Given the description of an element on the screen output the (x, y) to click on. 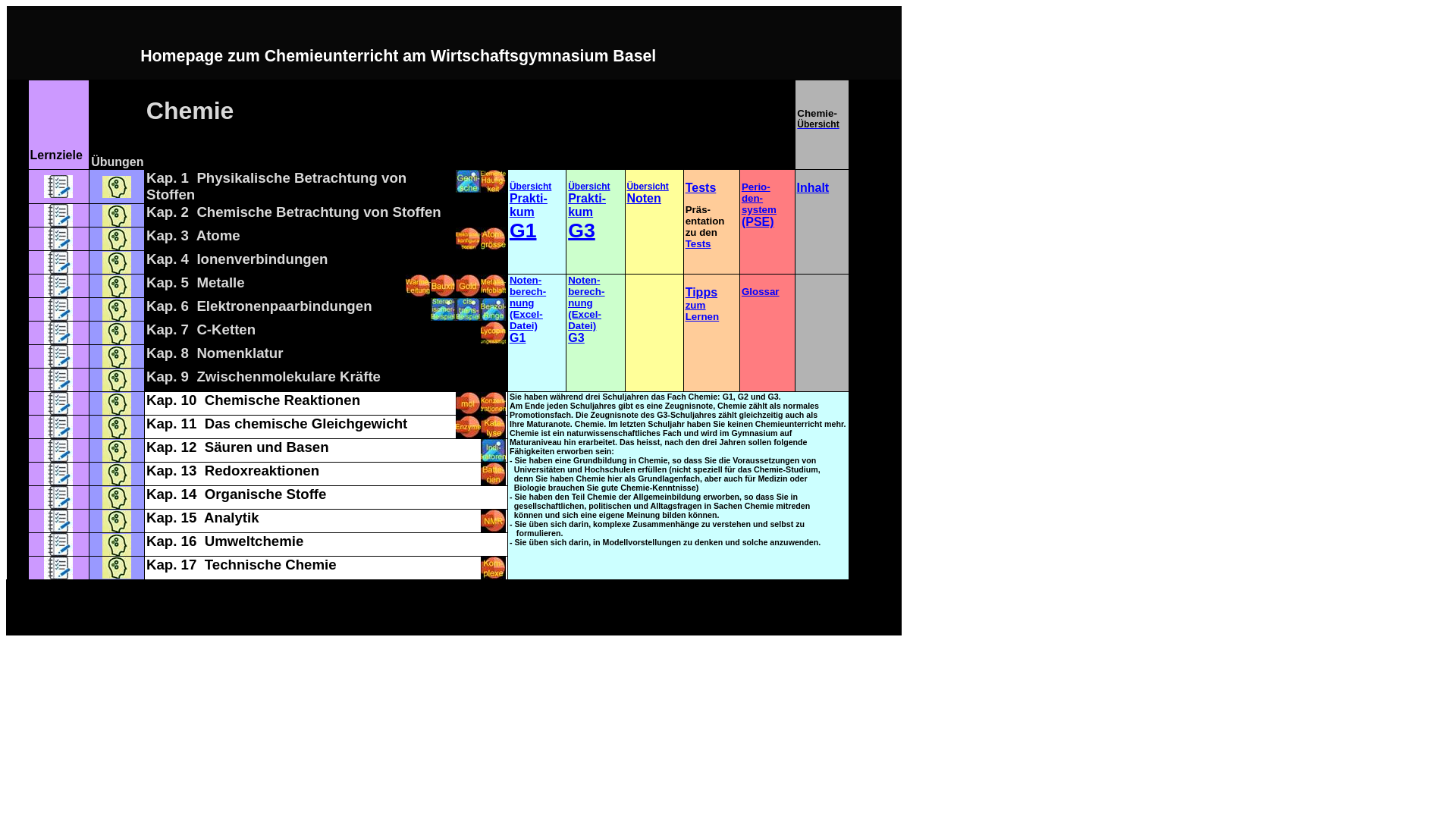
den- Element type: text (751, 197)
Inhalt Element type: text (812, 188)
kum Element type: text (521, 211)
(Excel- Element type: text (525, 314)
G3 Element type: text (575, 337)
Datei) Element type: text (581, 325)
(Excel- Element type: text (584, 314)
berech-nung Element type: text (585, 296)
zum Element type: text (695, 304)
Tests Element type: text (700, 187)
Glossar Element type: text (760, 291)
Perio- Element type: text (755, 186)
Prakti- Element type: text (586, 197)
Datei) Element type: text (523, 325)
Noten- Element type: text (525, 279)
G1 Element type: text (517, 337)
Tests Element type: text (698, 243)
kum Element type: text (580, 211)
system Element type: text (758, 209)
Noten Element type: text (643, 197)
G1 Element type: text (522, 230)
Noten- Element type: text (583, 279)
berech-nung Element type: text (527, 296)
Tipps Element type: text (701, 292)
Prakti- Element type: text (528, 197)
Lernen Element type: text (701, 316)
G3 Element type: text (581, 230)
(PSE) Element type: text (757, 221)
